Given the description of an element on the screen output the (x, y) to click on. 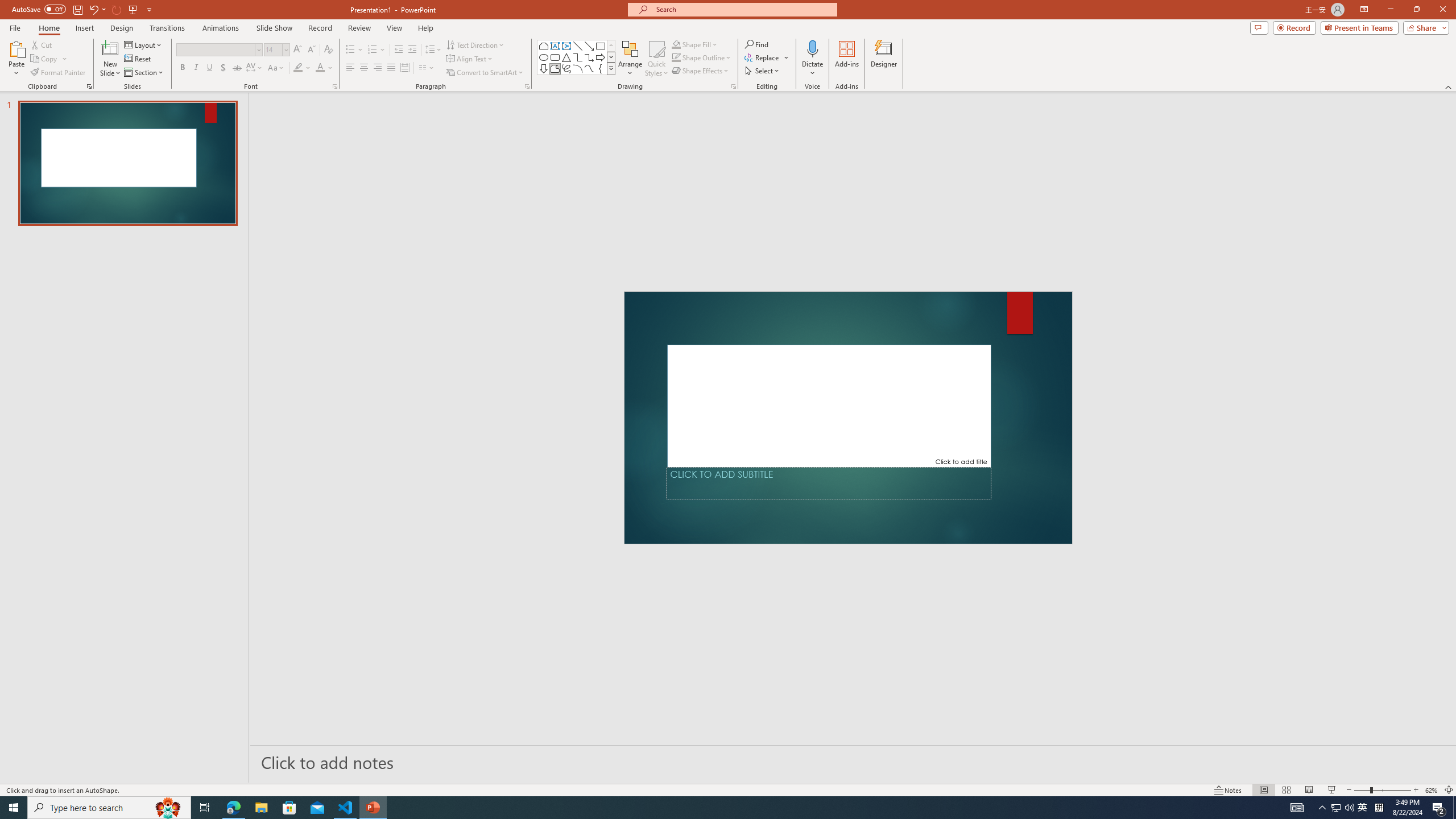
Zoom 62% (1431, 790)
Rectangle: Top Corners Snipped (543, 45)
